Given the description of an element on the screen output the (x, y) to click on. 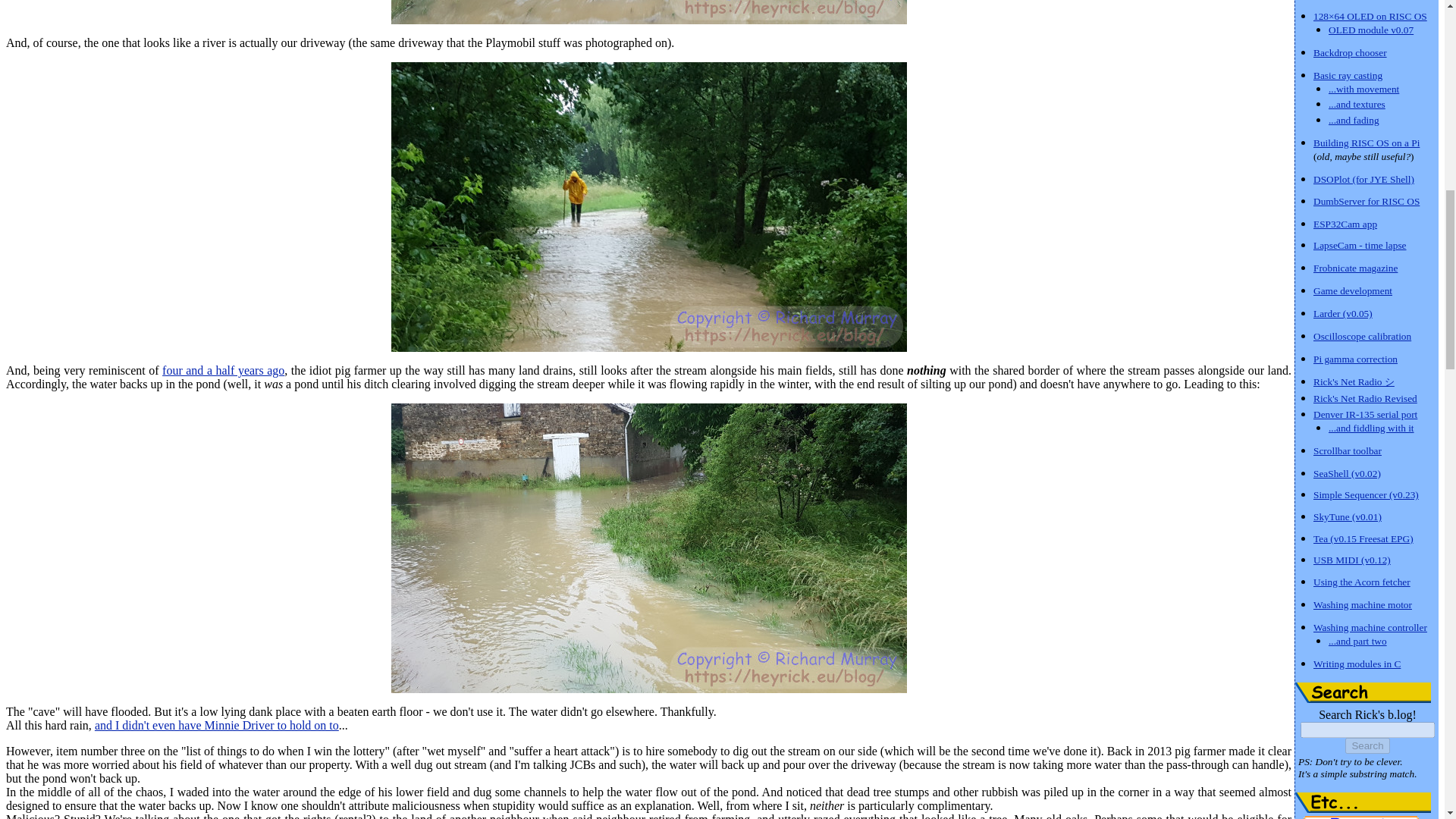
and I didn't even have Minnie Driver to hold on to (216, 725)
...with movement (1363, 88)
Etc... (1363, 802)
Search (1363, 692)
Basic ray casting (1347, 74)
OLED module v0.07 (1370, 29)
Backdrop chooser (1350, 51)
four and a half years ago (222, 369)
Search (1367, 745)
